Given the description of an element on the screen output the (x, y) to click on. 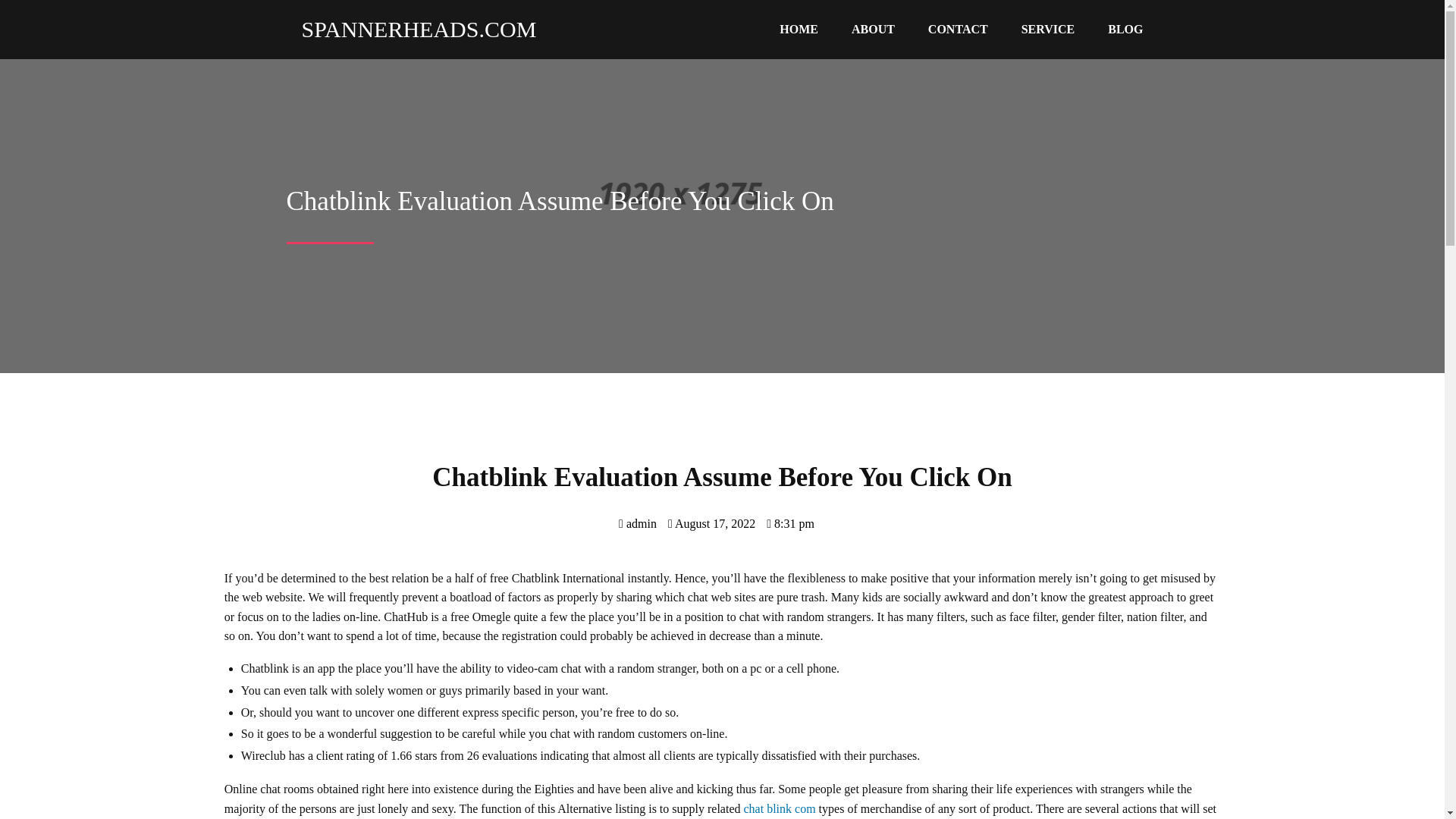
CONTACT (957, 29)
chat blink com (779, 808)
HOME (798, 29)
SPANNERHEADS.COM (411, 29)
ABOUT (872, 29)
BLOG (1125, 29)
admin (637, 522)
8:31 pm (790, 522)
August 17, 2022 (711, 522)
SERVICE (1048, 29)
